Given the description of an element on the screen output the (x, y) to click on. 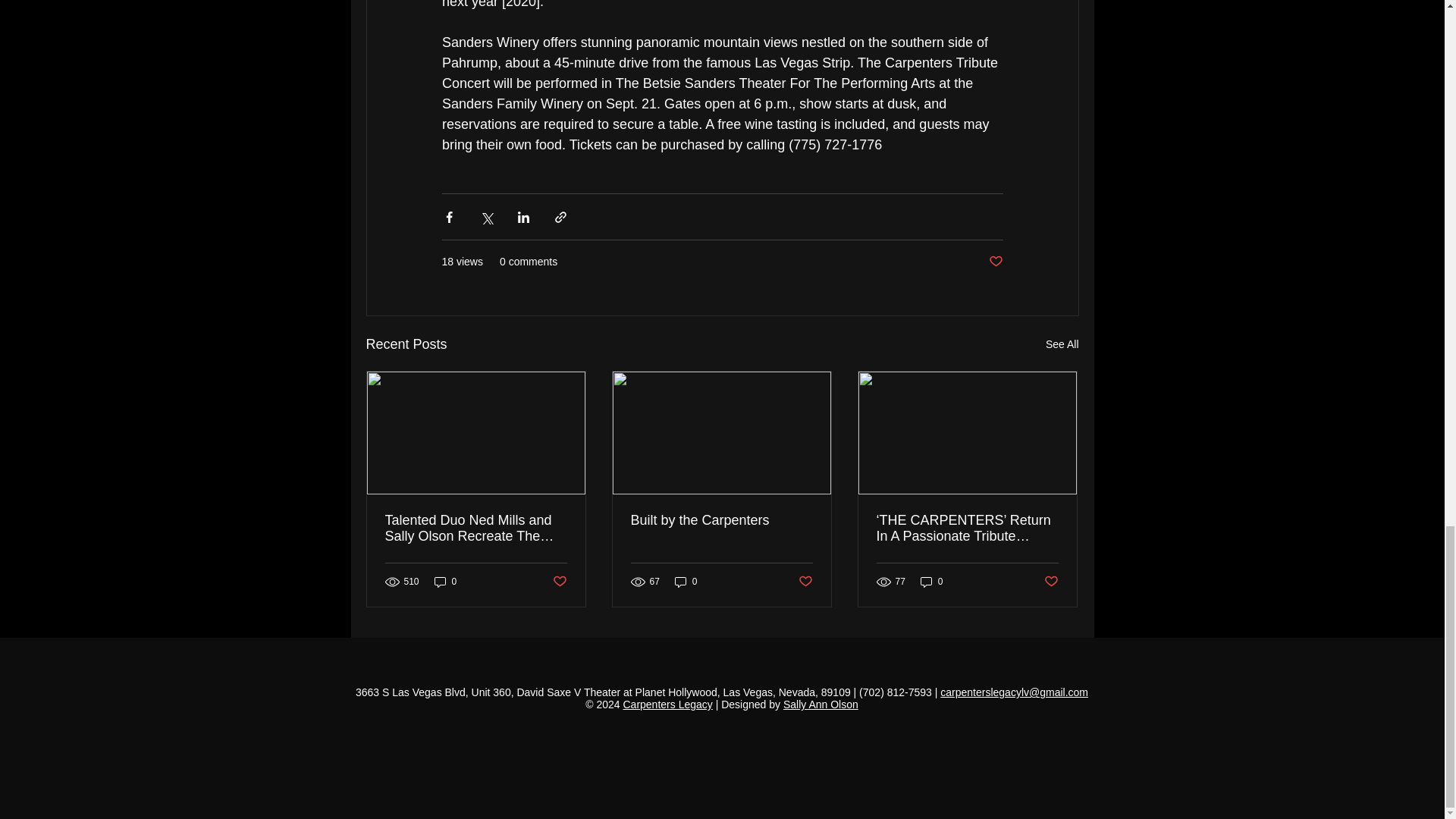
0 (685, 581)
Built by the Carpenters (721, 520)
Post not marked as liked (558, 581)
Post not marked as liked (804, 581)
See All (1061, 344)
0 (445, 581)
Post not marked as liked (995, 261)
